Given the description of an element on the screen output the (x, y) to click on. 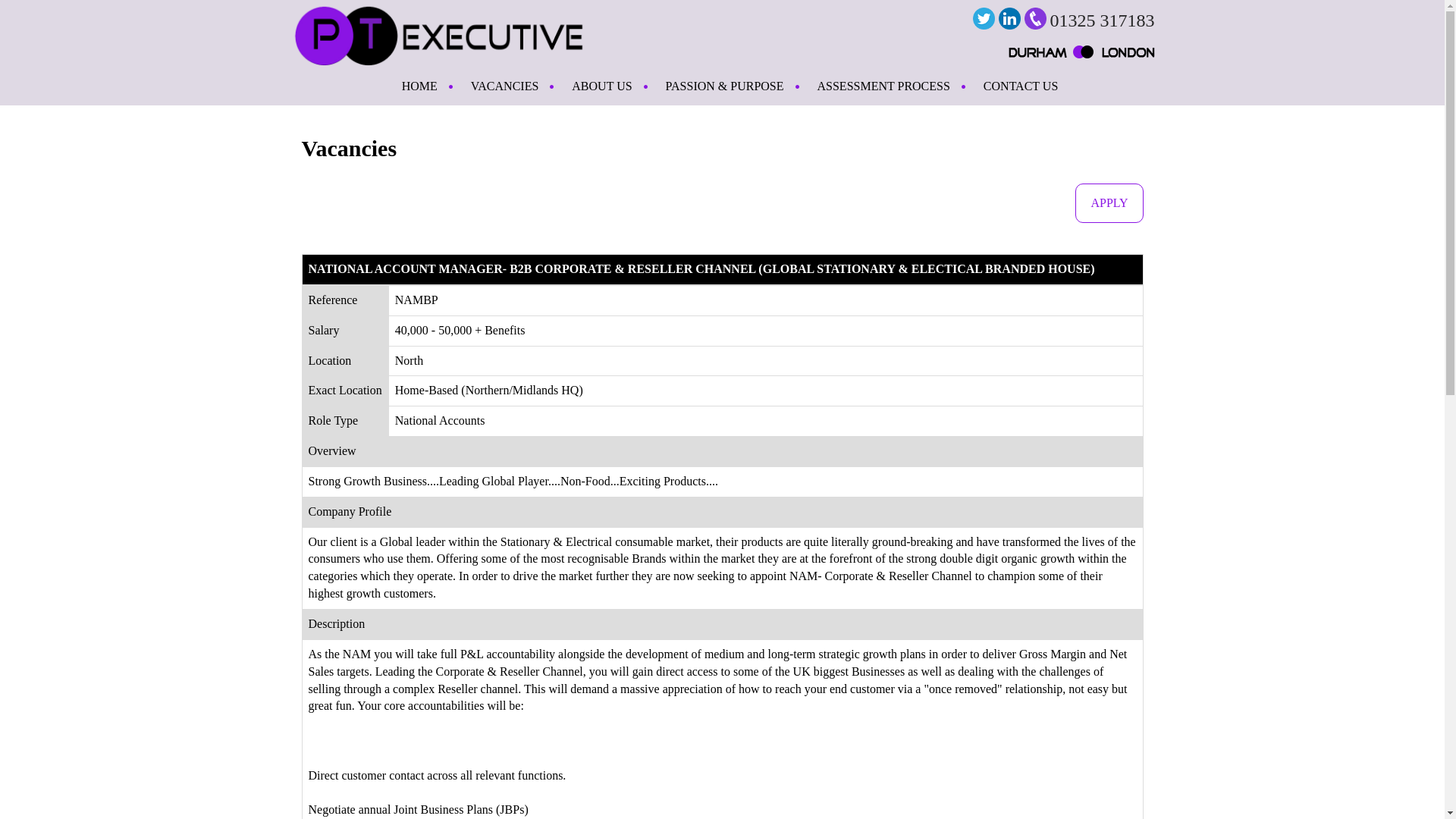
Follow PT Executive on LinkedIn (1008, 18)
HOME (419, 86)
Follow PT Executive on Twitter (983, 18)
ABOUT US (601, 86)
APPLY (1108, 202)
CONTACT US (1013, 86)
PT Executive (437, 33)
VACANCIES (504, 86)
ASSESSMENT PROCESS (883, 86)
PT Executive (437, 30)
